Given the description of an element on the screen output the (x, y) to click on. 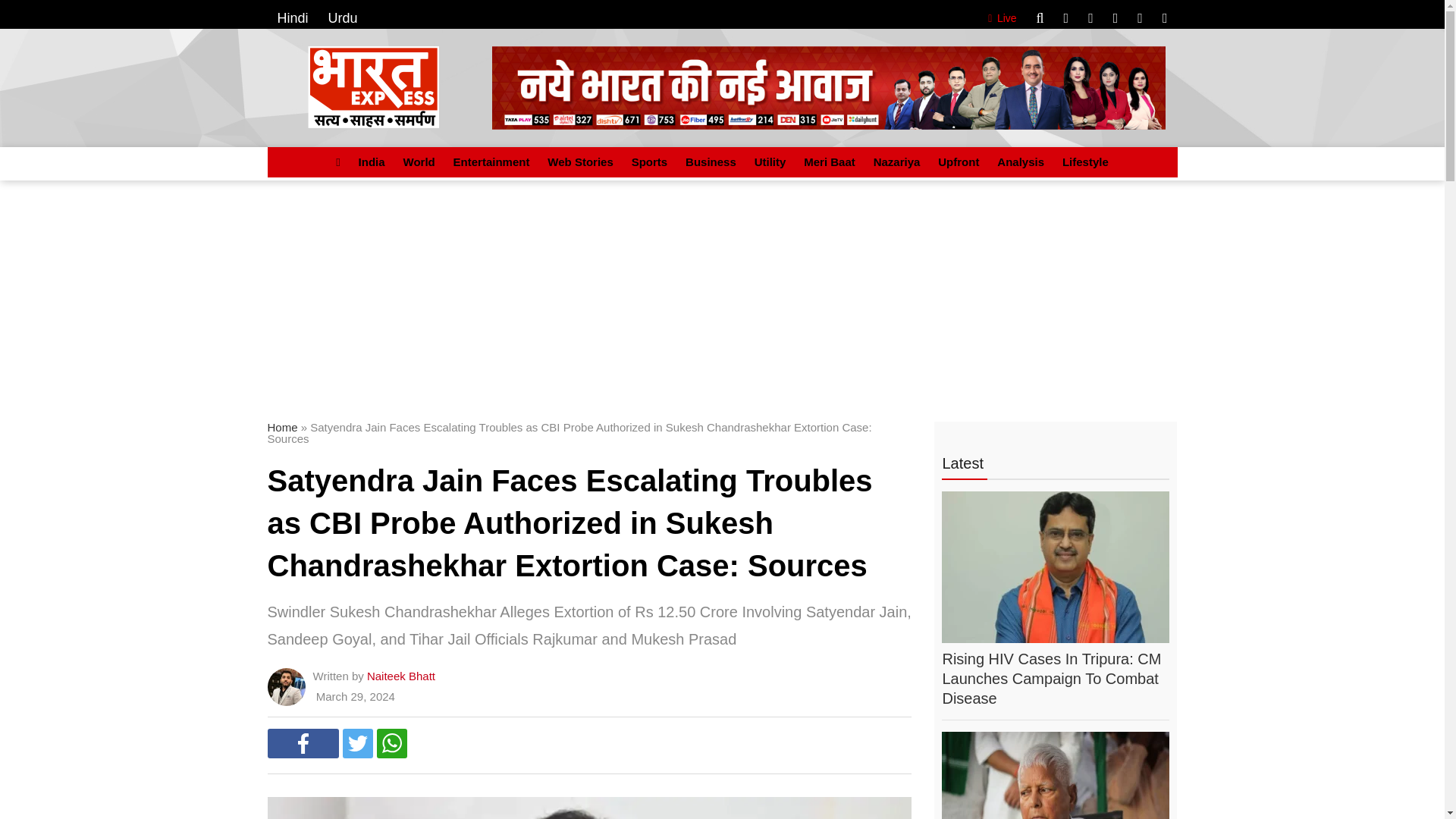
World (419, 162)
Utility (769, 162)
Business (711, 162)
Hindi (292, 17)
Urdu (342, 17)
Sports (649, 162)
Meri Baat (829, 162)
Bharat Express (373, 87)
Web Stories (580, 162)
Entertainment (491, 162)
